Given the description of an element on the screen output the (x, y) to click on. 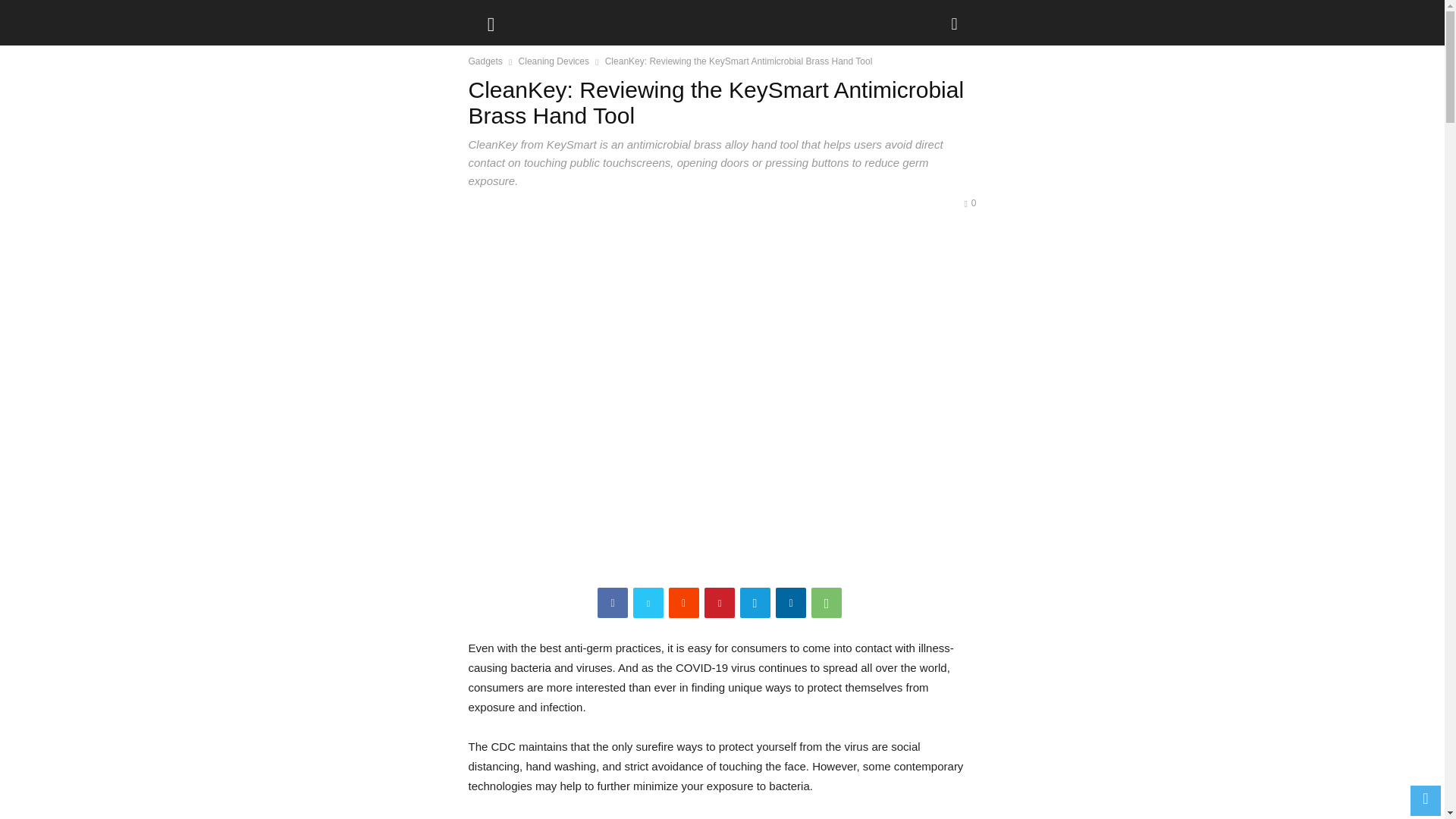
Pinterest (719, 603)
Twitter (648, 603)
0 (969, 203)
Linkedin (791, 603)
Telegram (754, 603)
Facebook (611, 603)
View all posts in Gadgets (485, 61)
Cleaning Devices (553, 61)
WhatsApp (825, 603)
View all posts in Cleaning Devices (553, 61)
ReddIt (683, 603)
Gadgets (485, 61)
